Given the description of an element on the screen output the (x, y) to click on. 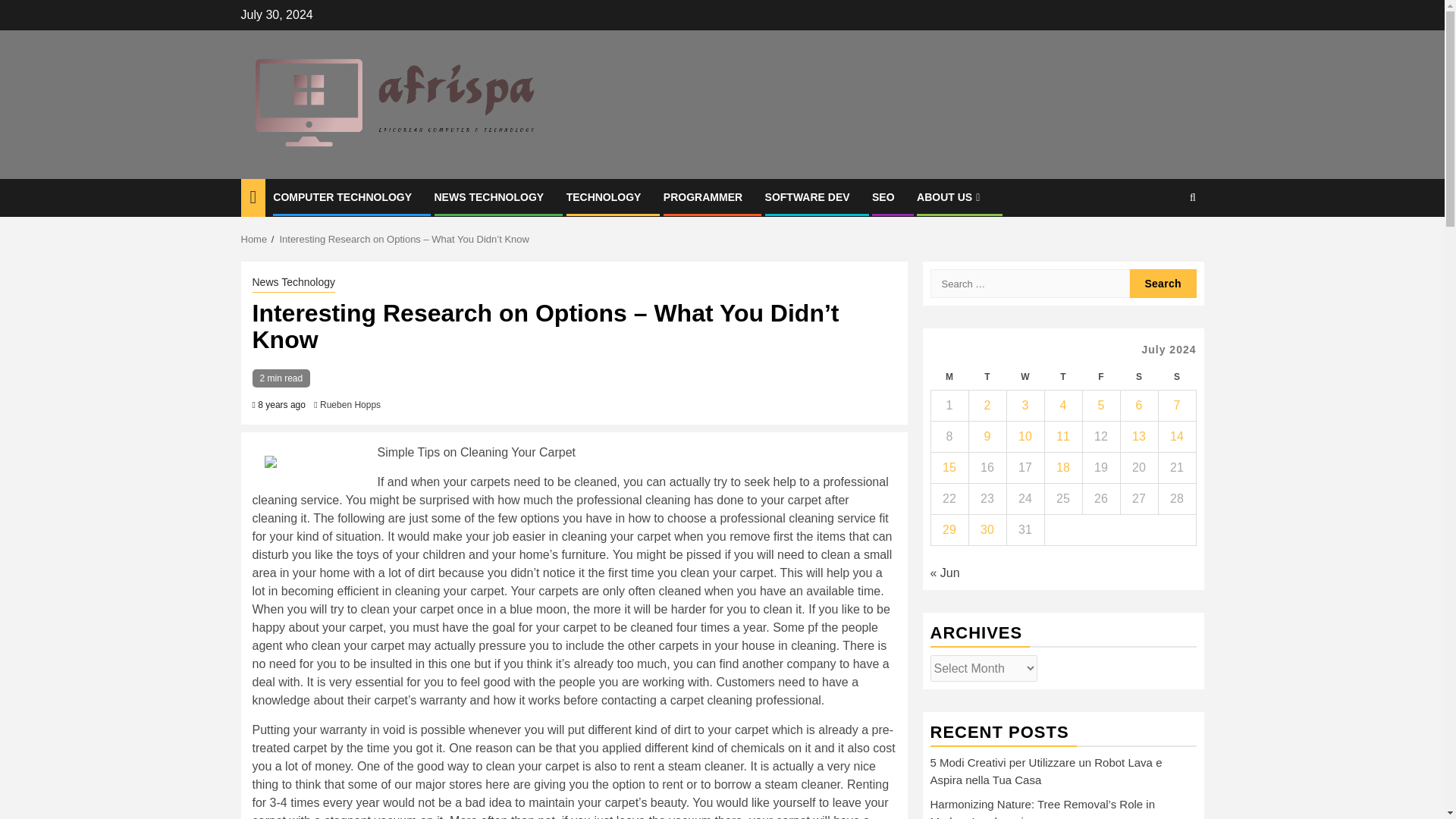
Monday (949, 376)
SOFTWARE DEV (807, 196)
NEWS TECHNOLOGY (488, 196)
ABOUT US (950, 196)
Rueben Hopps (350, 404)
Thursday (1062, 376)
Friday (1100, 376)
Saturday (1138, 376)
Search (1162, 283)
Home (254, 238)
News Technology (292, 283)
COMPUTER TECHNOLOGY (342, 196)
PROGRAMMER (702, 196)
Tuesday (987, 376)
TECHNOLOGY (604, 196)
